Given the description of an element on the screen output the (x, y) to click on. 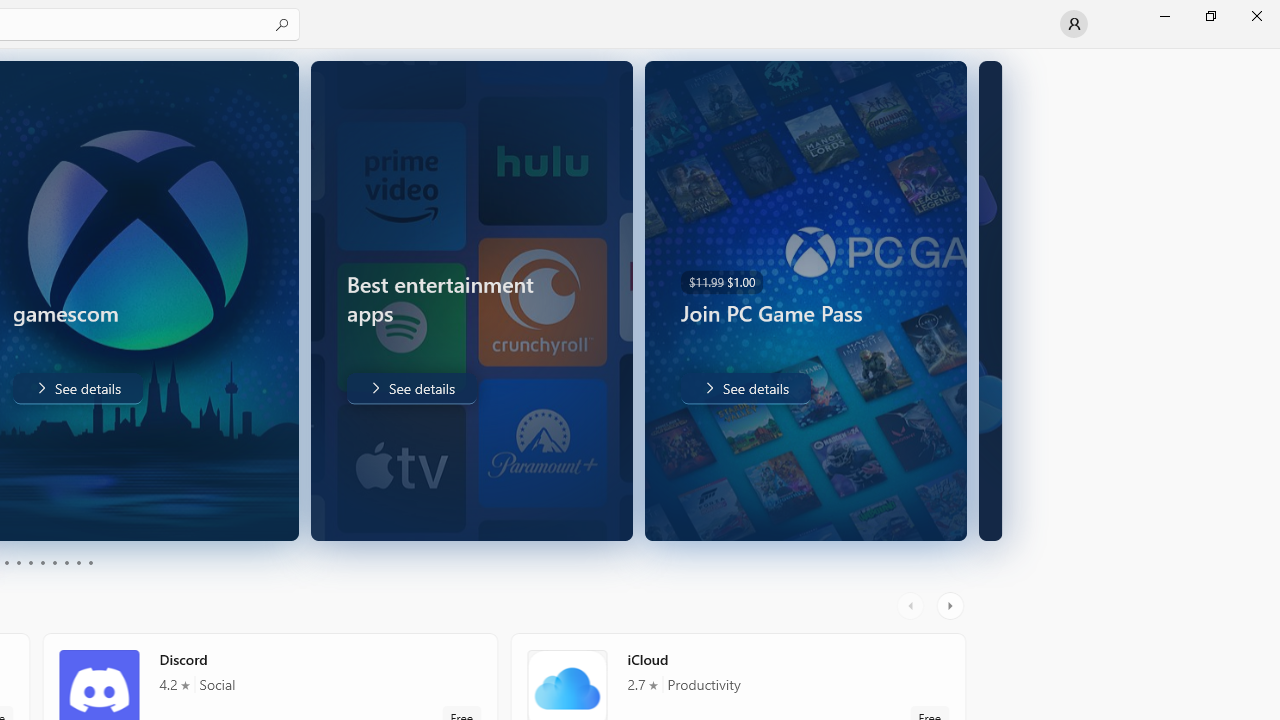
Page 7 (54, 562)
